Given the description of an element on the screen output the (x, y) to click on. 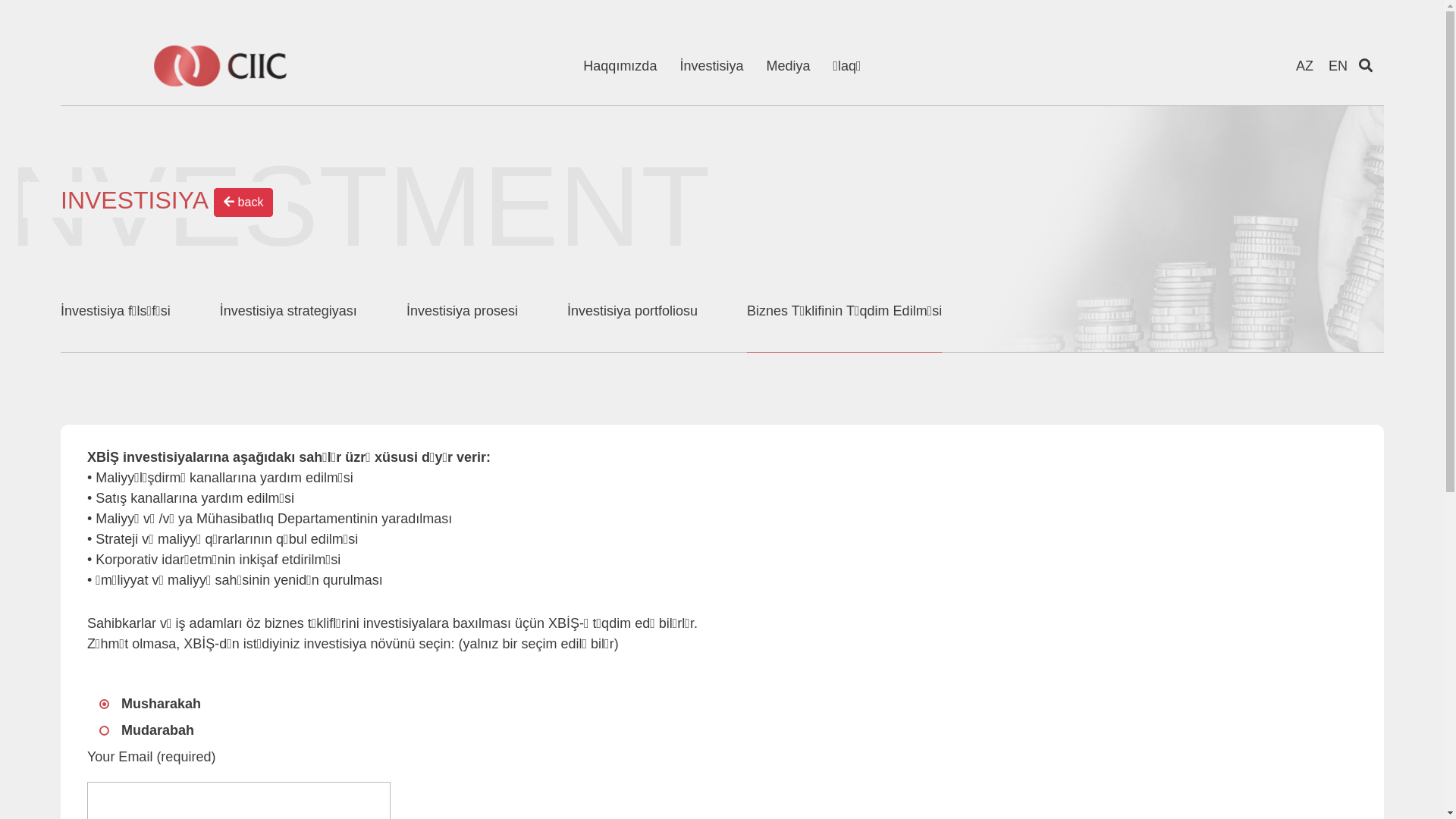
AZ Element type: text (1304, 65)
EN Element type: text (1337, 65)
back Element type: text (243, 202)
Mediya Element type: text (787, 66)
